Given the description of an element on the screen output the (x, y) to click on. 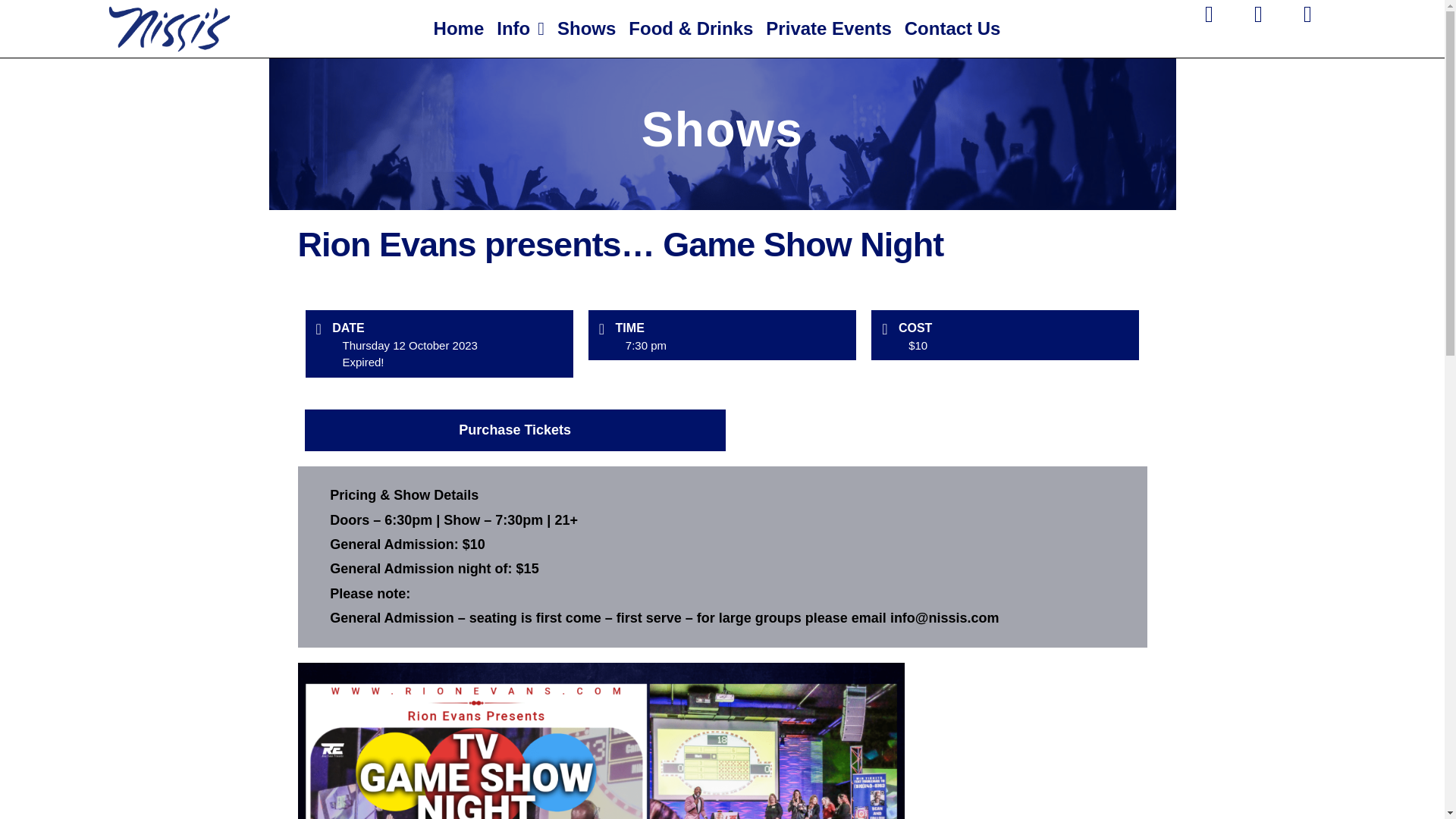
Private Events (828, 28)
Info (520, 28)
gameshownightmay nissis entertainment events (600, 740)
Home (458, 28)
Contact Us (952, 28)
nissis logo png no background nissis entertainment events (169, 28)
Shows (586, 28)
